Given the description of an element on the screen output the (x, y) to click on. 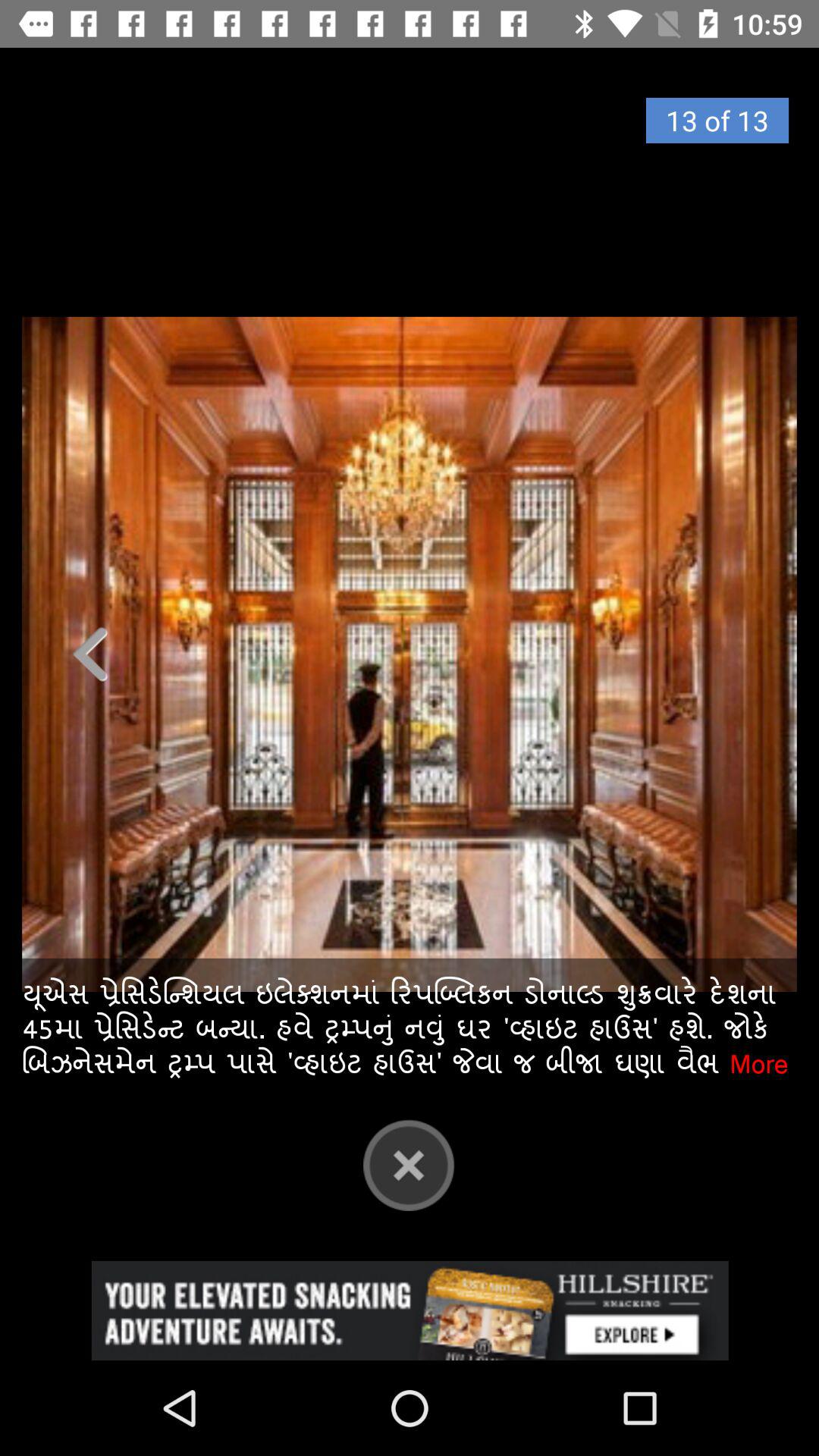
exit out of story (409, 653)
